Given the description of an element on the screen output the (x, y) to click on. 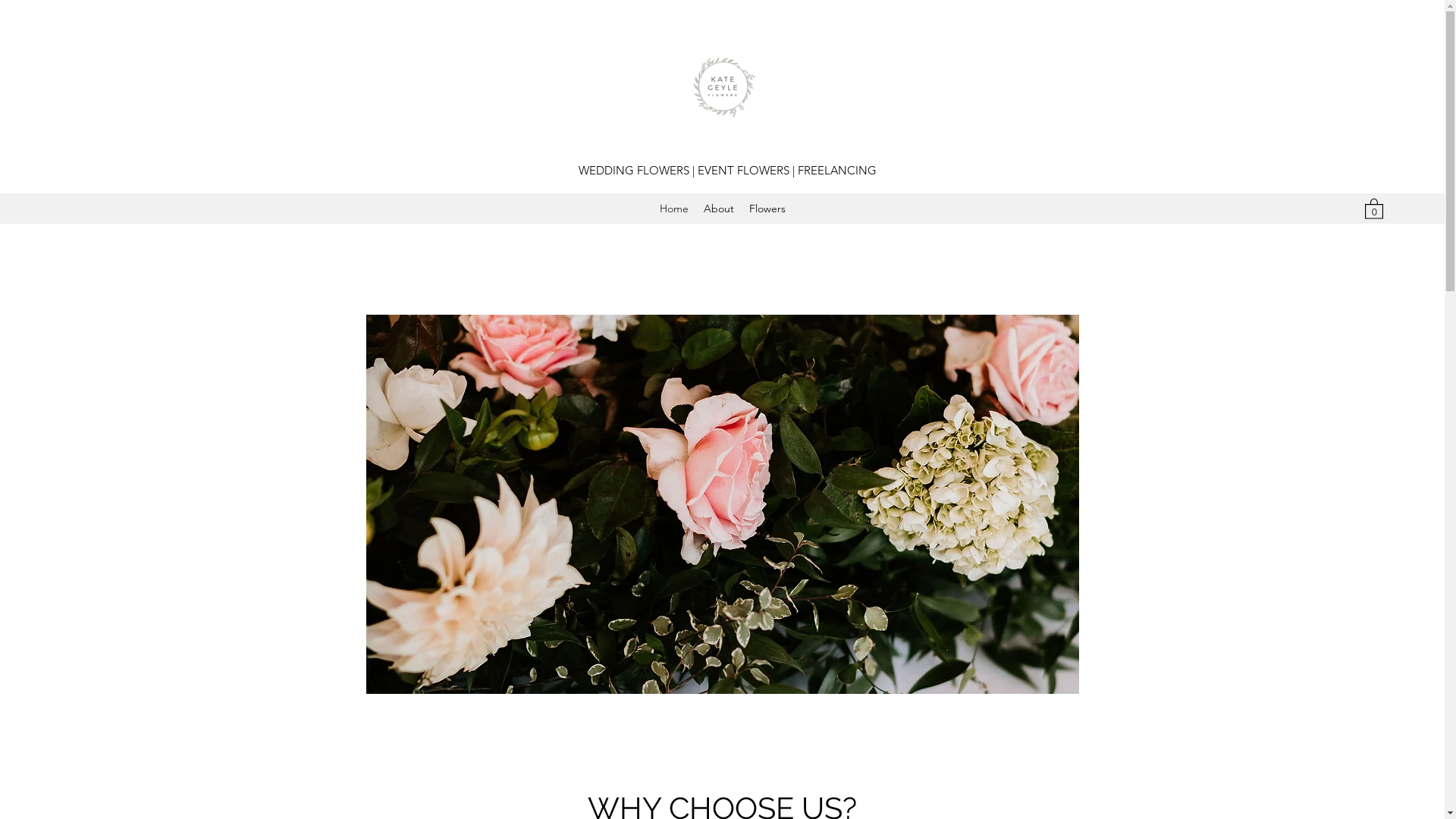
0 Element type: text (1374, 208)
About Element type: text (718, 208)
Flowers Element type: text (767, 208)
Home Element type: text (674, 208)
